Given the description of an element on the screen output the (x, y) to click on. 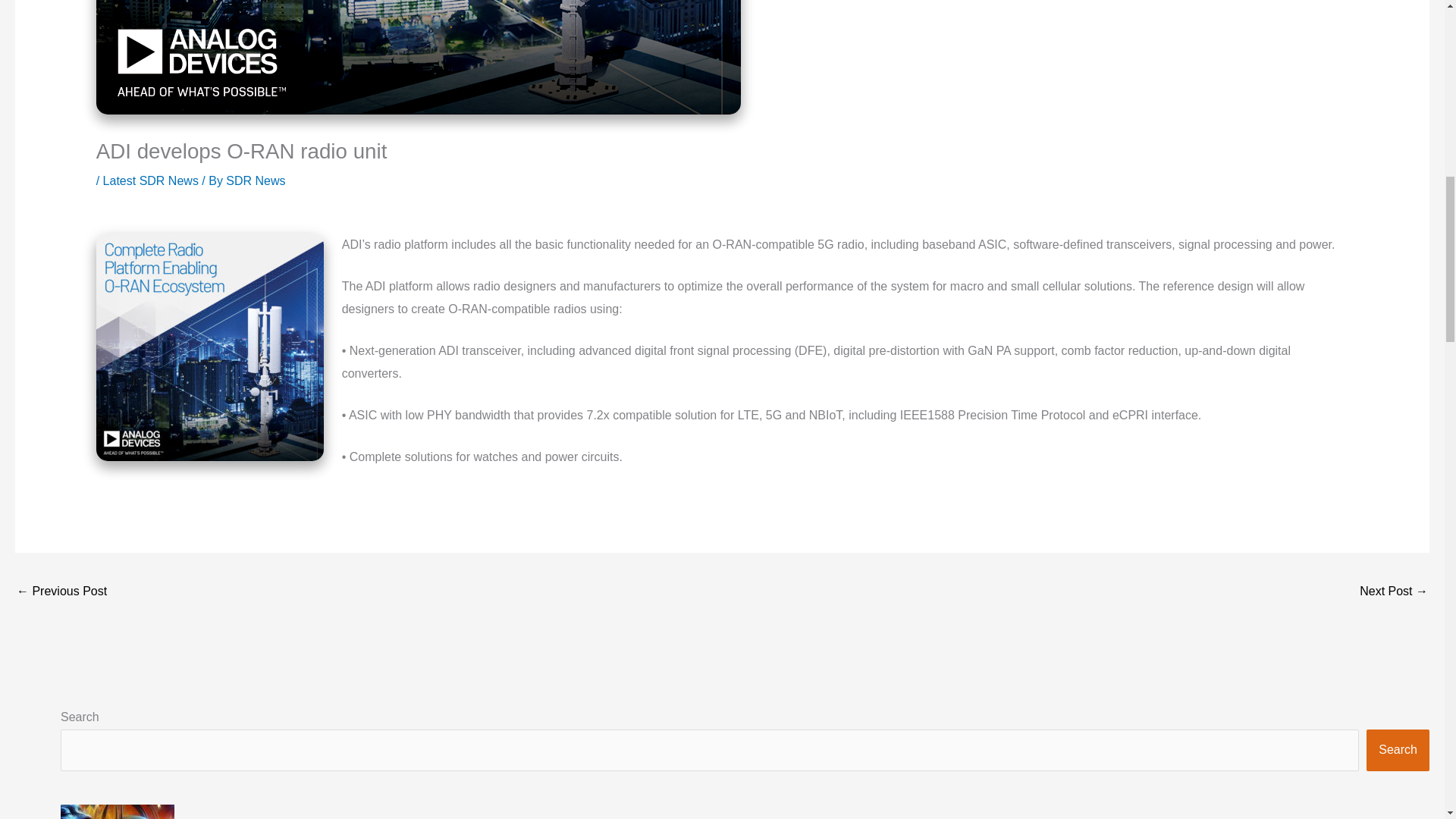
Search (1398, 749)
Raspberry Pi Zero Beams Back Video From 100,000 Feet (1393, 592)
View all posts by SDR News (255, 180)
SDR News (255, 180)
Latest SDR News (150, 180)
